Given the description of an element on the screen output the (x, y) to click on. 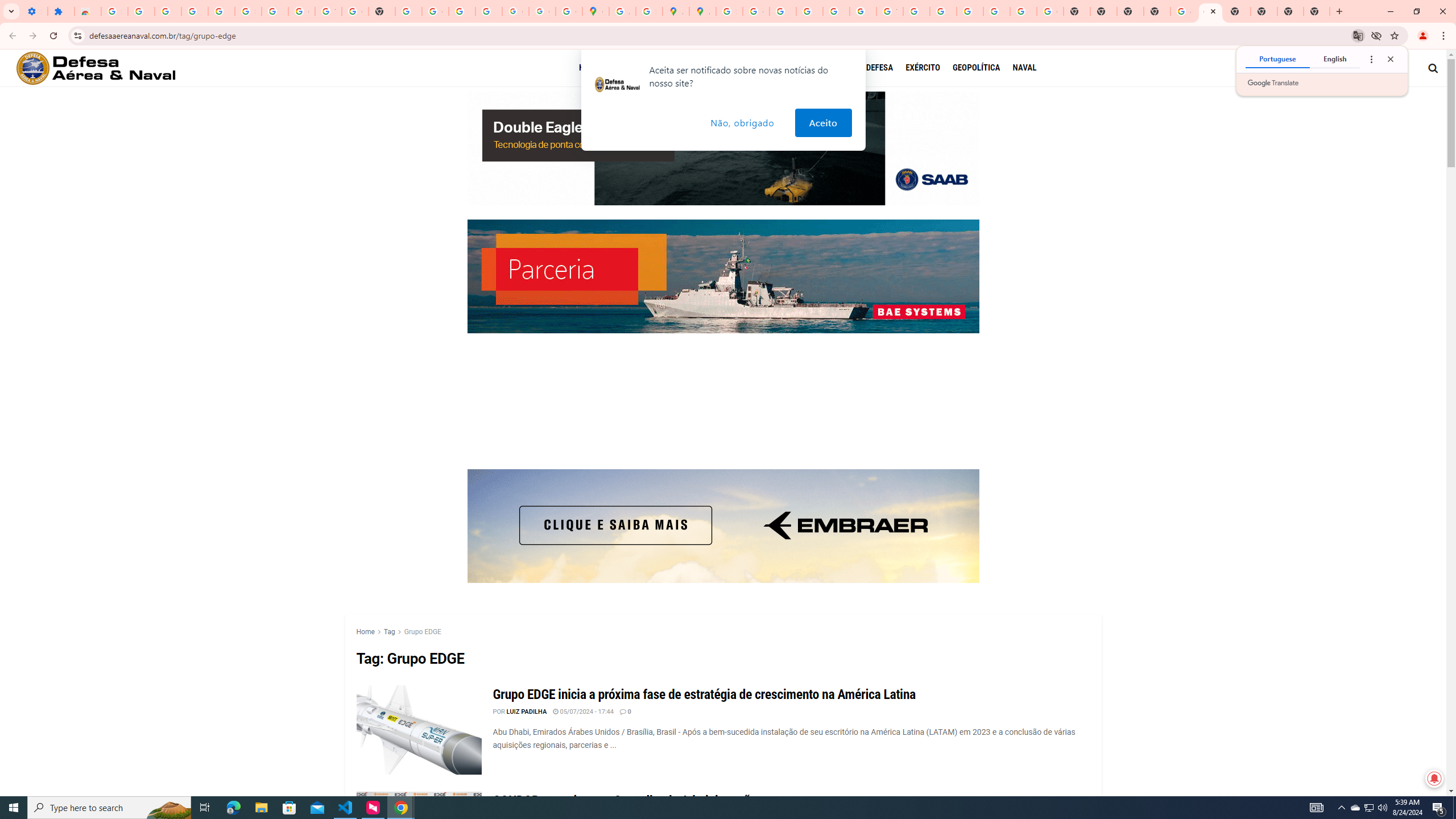
AutomationID: menu-item-105100 (928, 67)
DAN TV (675, 67)
AutomationID: menu-item-104162 (843, 67)
Translate options (1370, 58)
ENTREVISTAS (726, 67)
slide-110599 (723, 275)
